Given the description of an element on the screen output the (x, y) to click on. 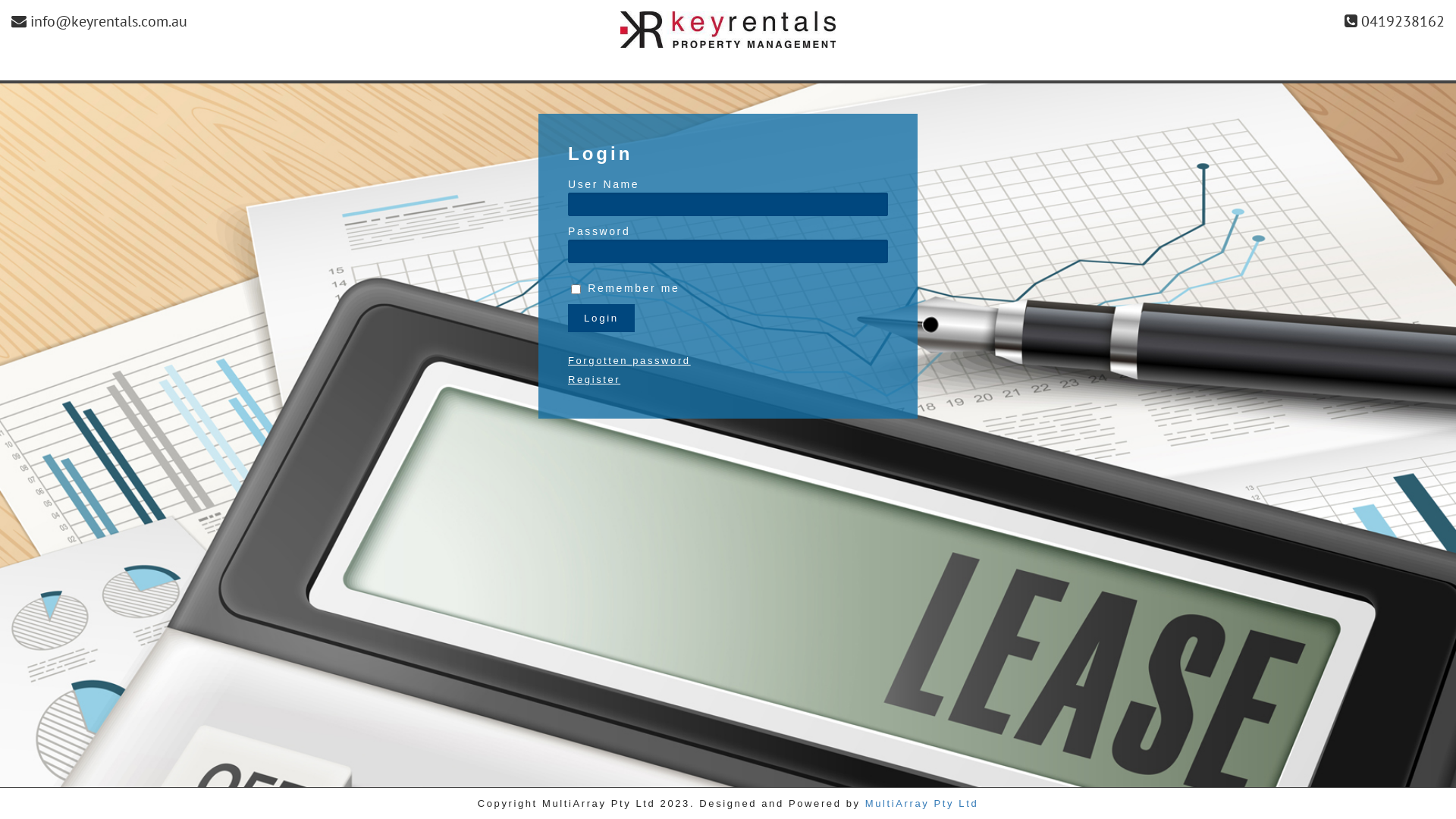
Register Element type: text (727, 379)
Forgotten password Element type: text (727, 354)
MultiArray Pty Ltd Element type: text (921, 803)
Login Element type: text (600, 318)
